Given the description of an element on the screen output the (x, y) to click on. 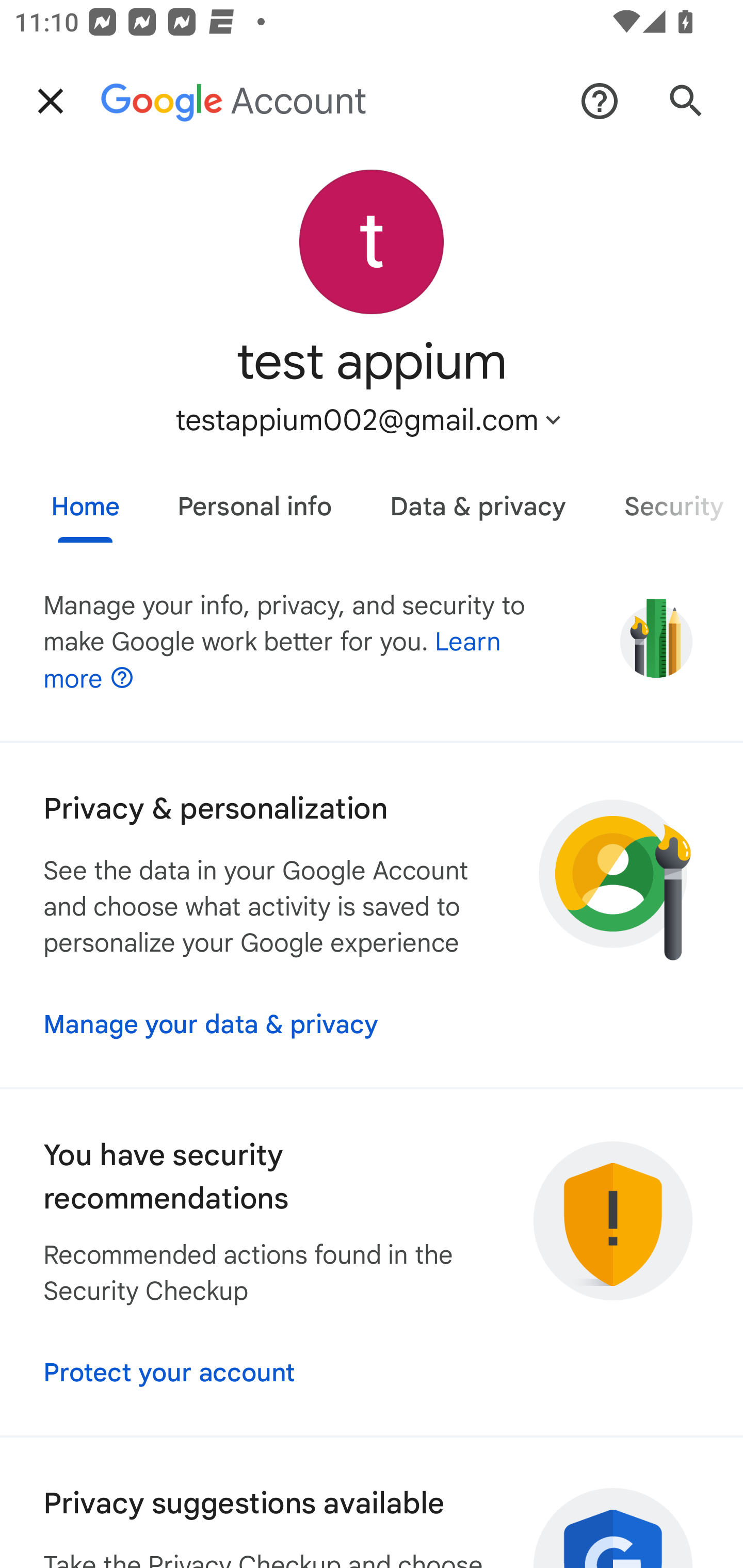
Close (50, 101)
Help (599, 101)
Search (685, 101)
Personal info (254, 499)
Data & privacy (477, 499)
Security (669, 499)
